Given the description of an element on the screen output the (x, y) to click on. 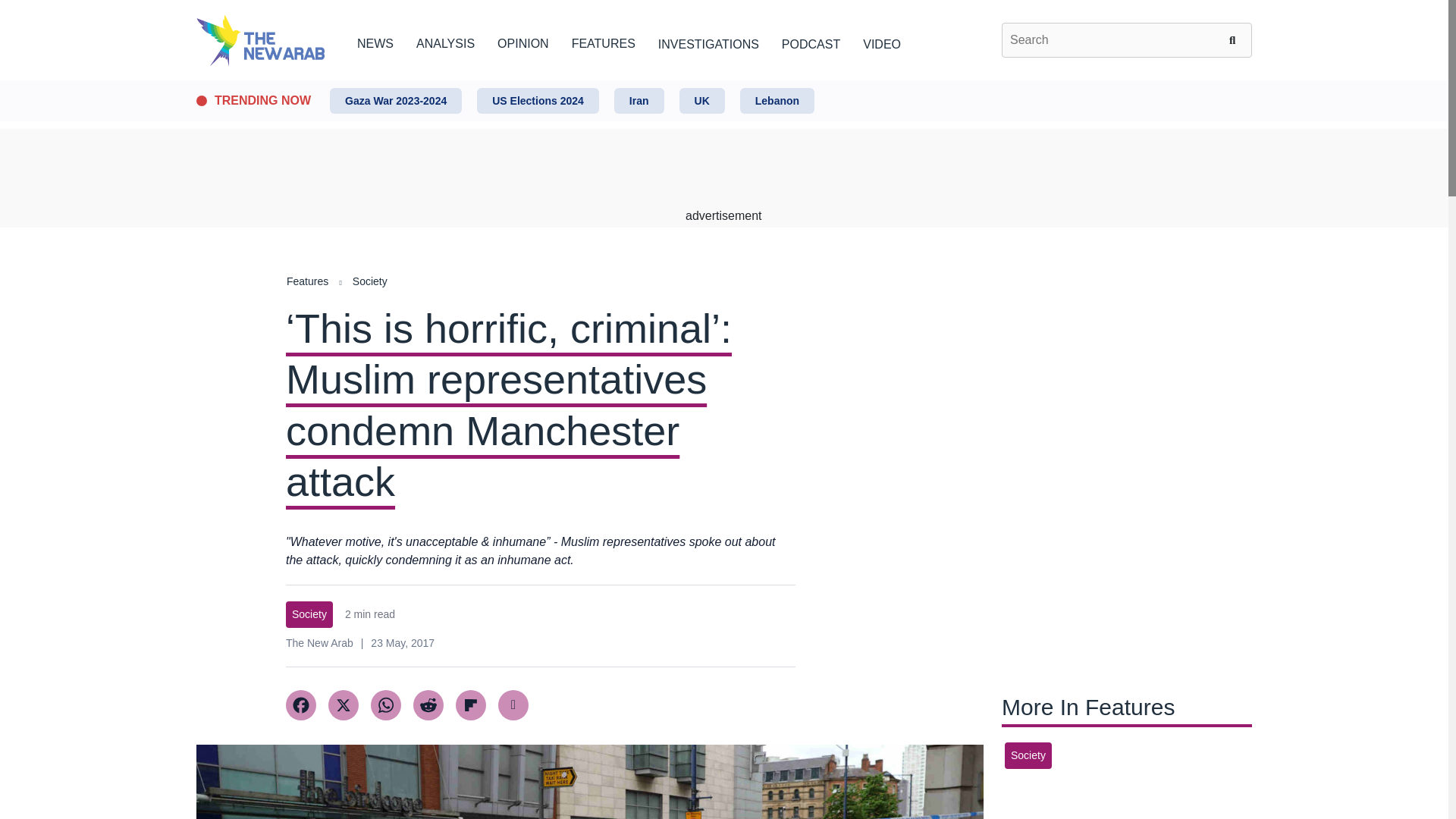
Skip to main content (724, 81)
ANALYSIS (445, 41)
NEWS (375, 41)
OPINION (523, 41)
Search (1234, 39)
